Given the description of an element on the screen output the (x, y) to click on. 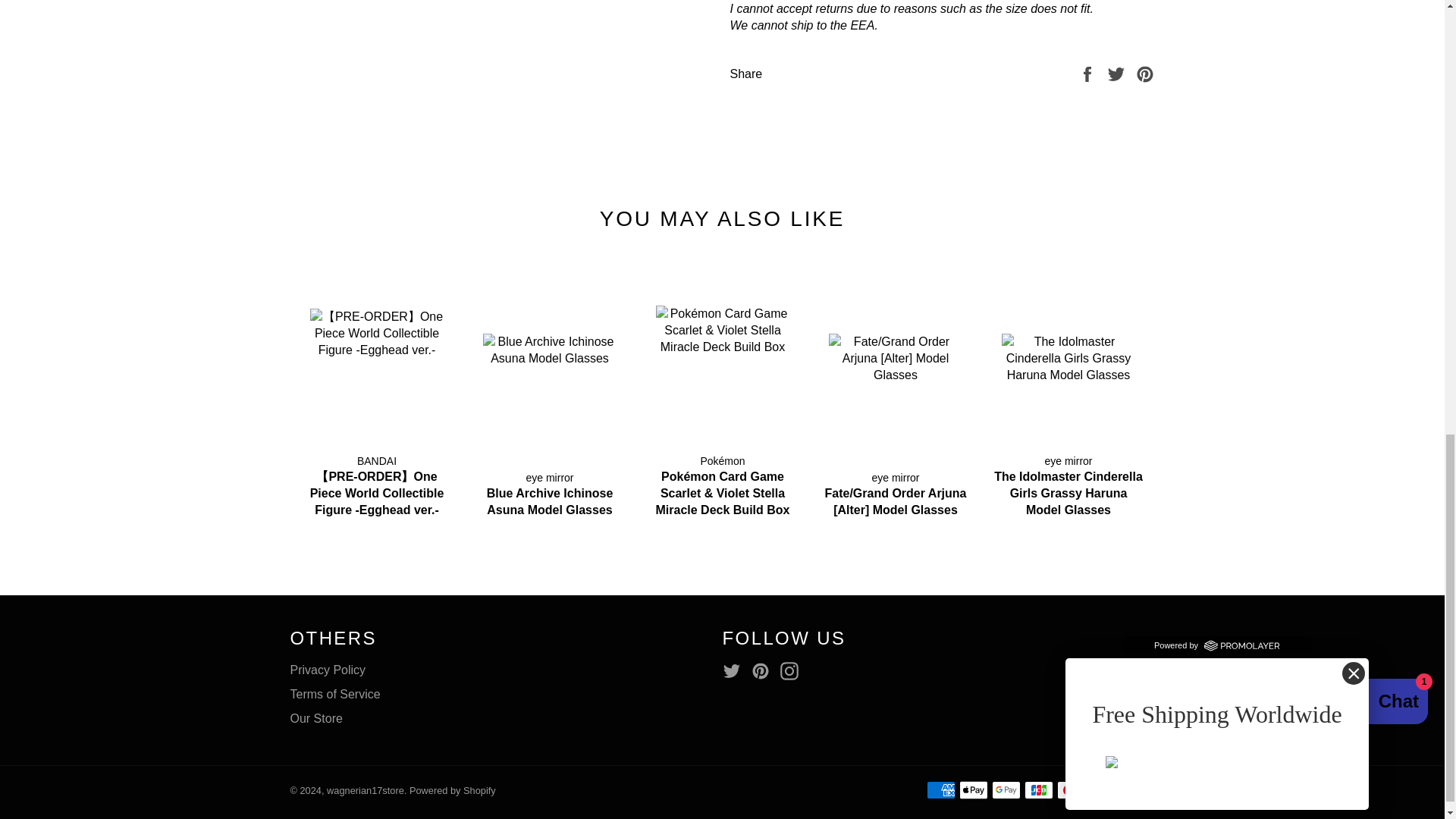
wagnerian17store on Twitter (735, 670)
wagnerian17store on Instagram (793, 670)
Pin on Pinterest (1144, 73)
Share on Facebook (1088, 73)
Share on Facebook (1088, 73)
Pin on Pinterest (1144, 73)
Tweet on Twitter (1117, 73)
Tweet on Twitter (1117, 73)
wagnerian17store on Pinterest (764, 670)
